Given the description of an element on the screen output the (x, y) to click on. 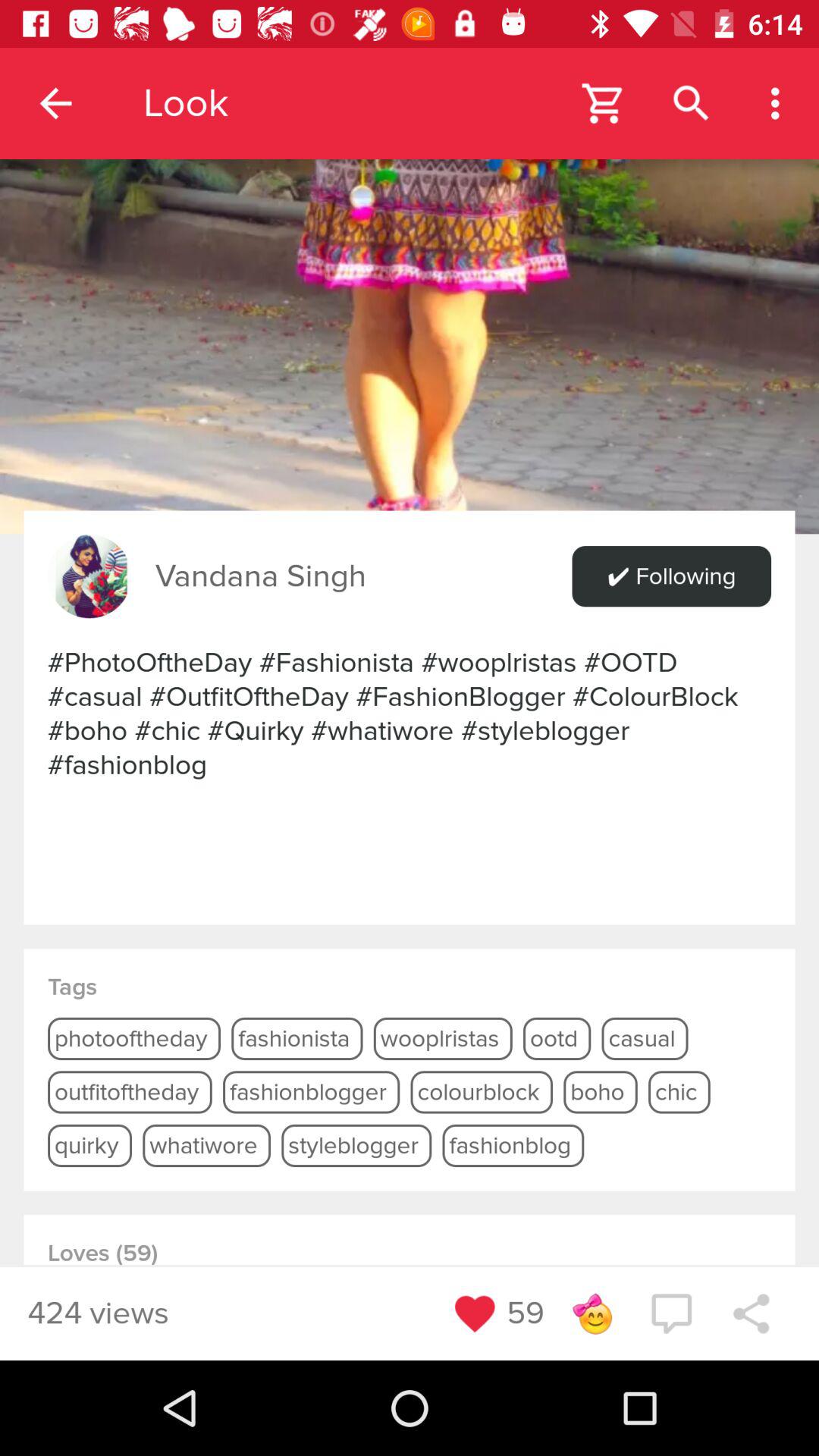
select icon to the left of the vandana singh (89, 576)
